Given the description of an element on the screen output the (x, y) to click on. 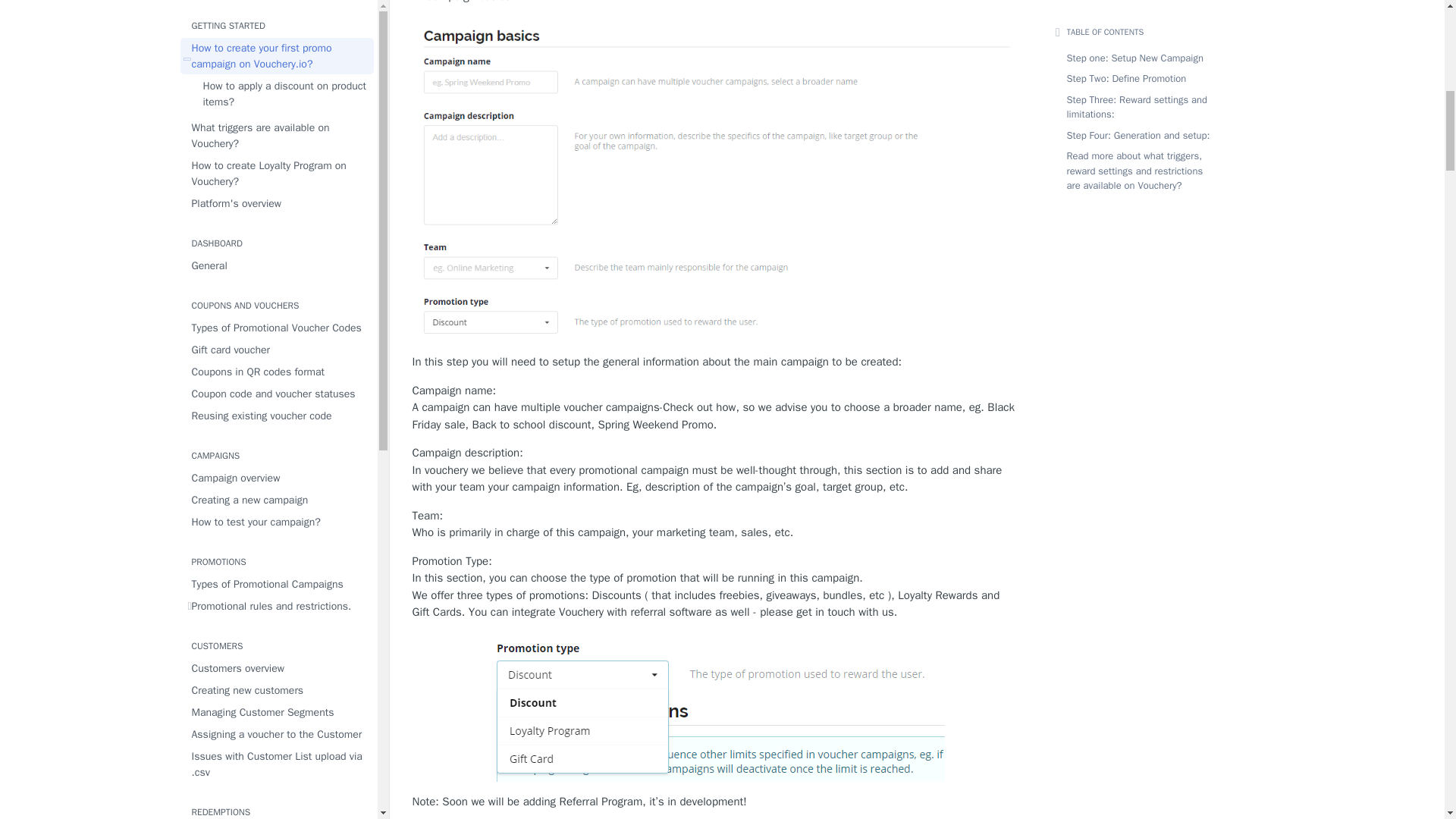
promotion type.png (715, 707)
